Given the description of an element on the screen output the (x, y) to click on. 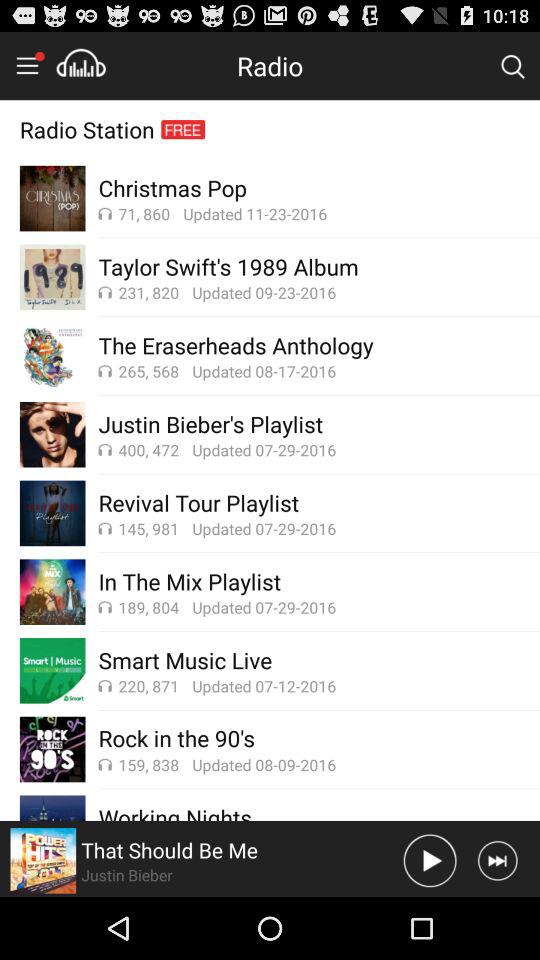
search (512, 65)
